Given the description of an element on the screen output the (x, y) to click on. 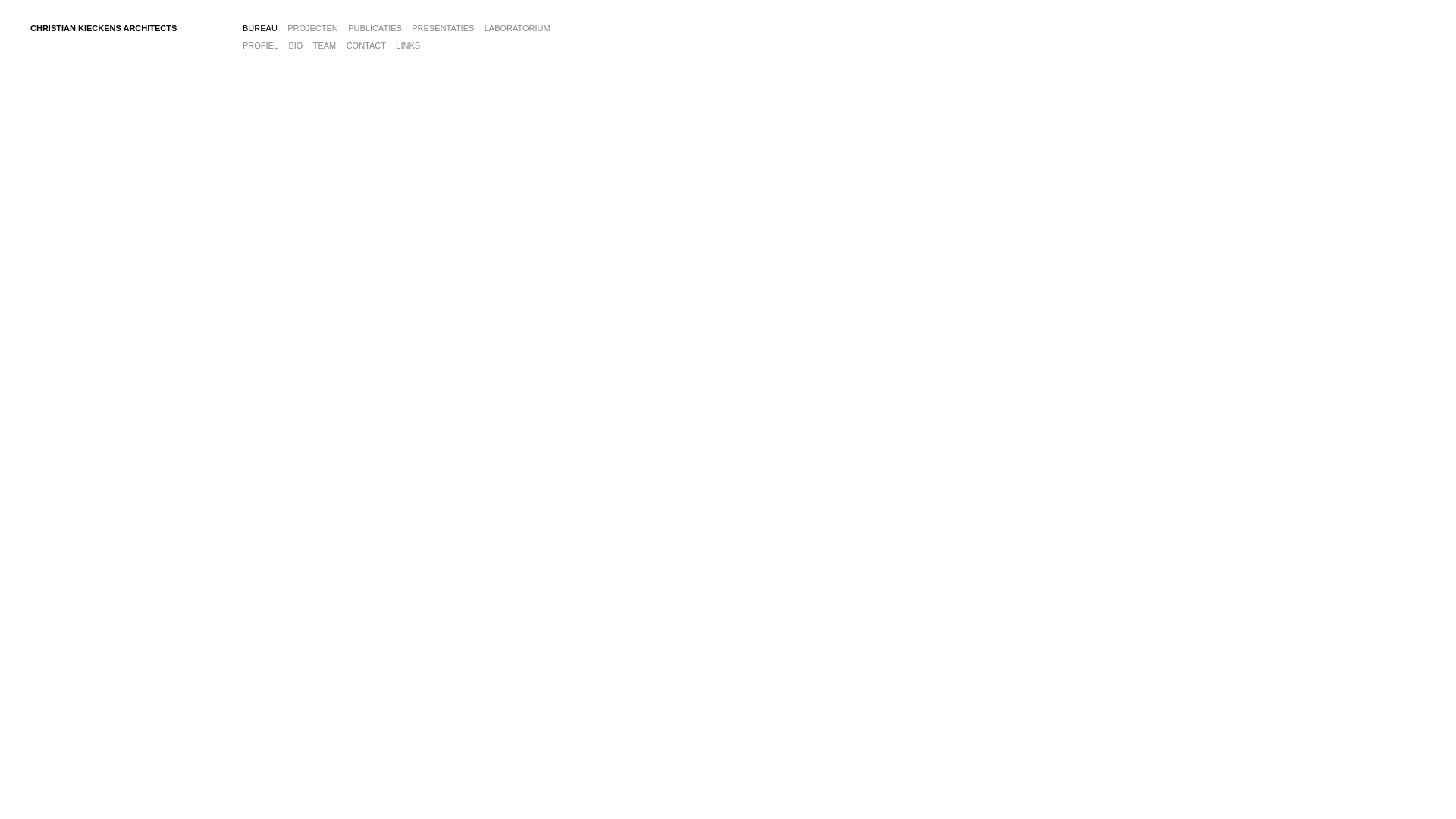
PUBLICATIES Element type: text (374, 27)
LABORATORIUM Element type: text (517, 27)
PROFIEL Element type: text (260, 45)
PROJECTEN Element type: text (312, 27)
CONTACT Element type: text (365, 45)
LINKS Element type: text (407, 45)
CHRISTIAN KIECKENS ARCHITECTS Element type: text (103, 27)
PRESENTATIES Element type: text (442, 27)
BIO Element type: text (295, 45)
TEAM Element type: text (324, 45)
BUREAU Element type: text (259, 27)
